Given the description of an element on the screen output the (x, y) to click on. 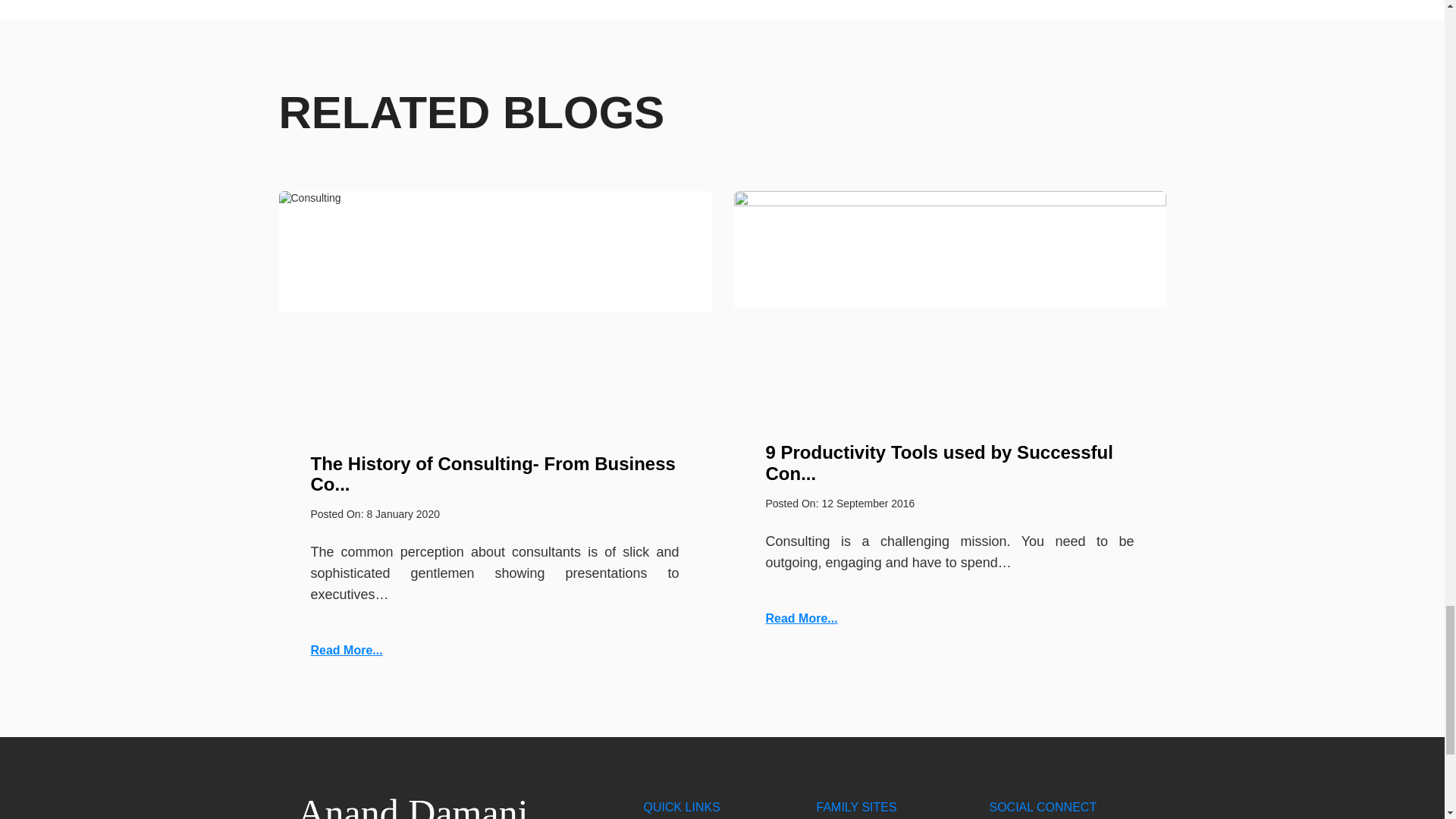
The History of Consulting- From Business Co... (493, 473)
9 Productivity Tools used by Successful Con... (939, 462)
Read More... (346, 649)
Read More... (801, 617)
